Given the description of an element on the screen output the (x, y) to click on. 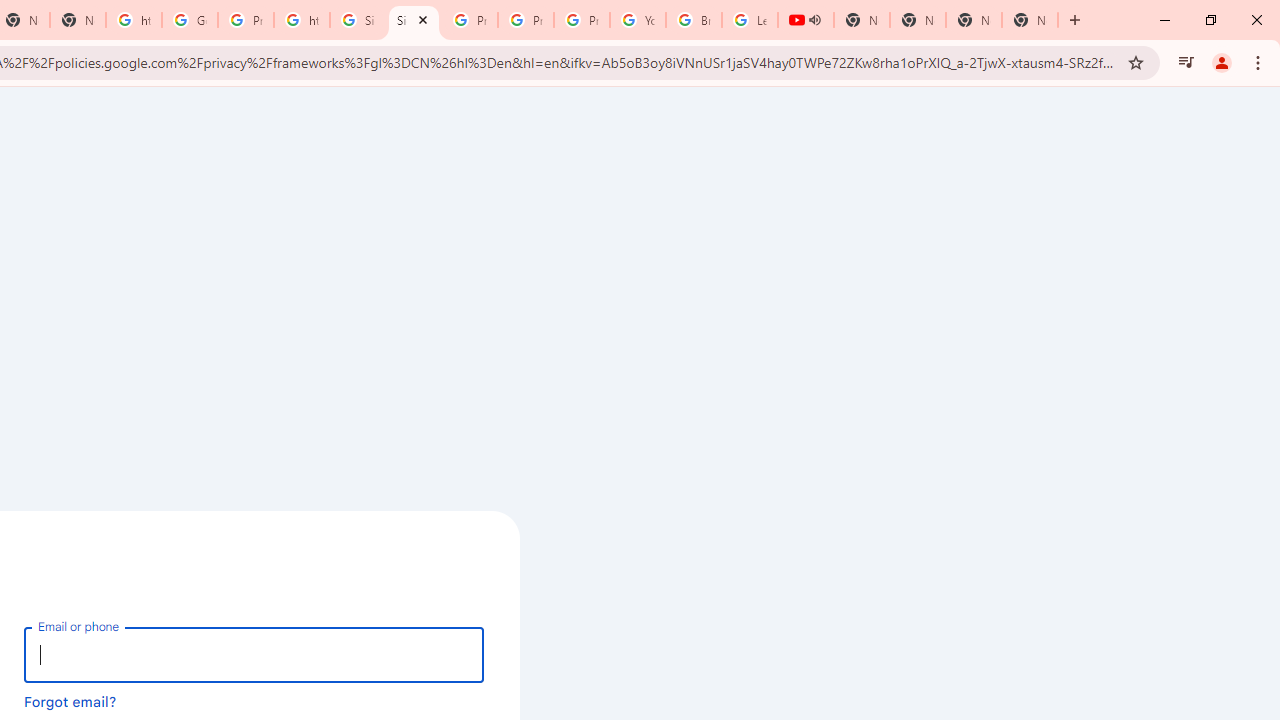
Privacy Help Center - Policies Help (525, 20)
Sign in - Google Accounts (358, 20)
Email or phone (253, 654)
Sign in - Google Accounts (413, 20)
https://scholar.google.com/ (301, 20)
New Tab (1030, 20)
https://scholar.google.com/ (134, 20)
